Given the description of an element on the screen output the (x, y) to click on. 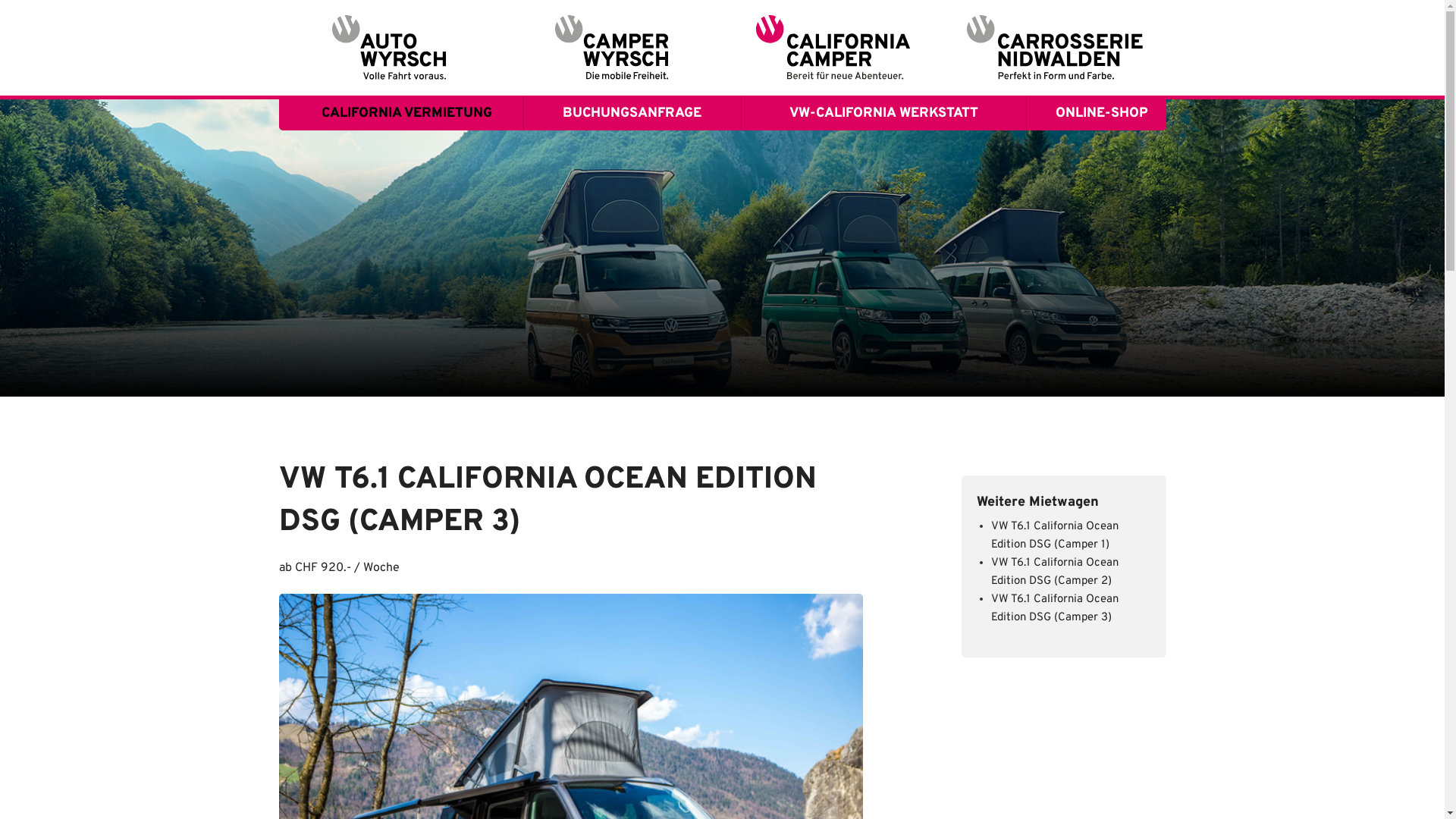
ONLINE-SHOP Element type: text (1096, 113)
VW T6.1 OCEAN CAMPER 1 Element type: text (401, 147)
CALIFORNIA VERMIETUNG Element type: text (401, 113)
VW T6.1 California Ocean Edition DSG (Camper 3) Element type: text (1054, 608)
VW T6.1 California Ocean Edition DSG (Camper 1) Element type: text (1054, 535)
VW-CALIFORNIA WERKSTATT Element type: text (883, 113)
GUTSCHEINE Element type: text (1096, 215)
GALLERIE Element type: text (401, 317)
BUCHUNGSANFRAGE Element type: text (632, 113)
VW T6.1 OCEAN CAMPER 3 Element type: text (401, 215)
MIETPREISE & BEDINGUNGEN Element type: text (401, 249)
BESTELLFORMULAR Element type: text (1096, 181)
VW T6.1 California Ocean Edition DSG (Camper 2) Element type: text (1054, 571)
VW T6.1 OCEAN CAMPER 2 Element type: text (401, 181)
